Given the description of an element on the screen output the (x, y) to click on. 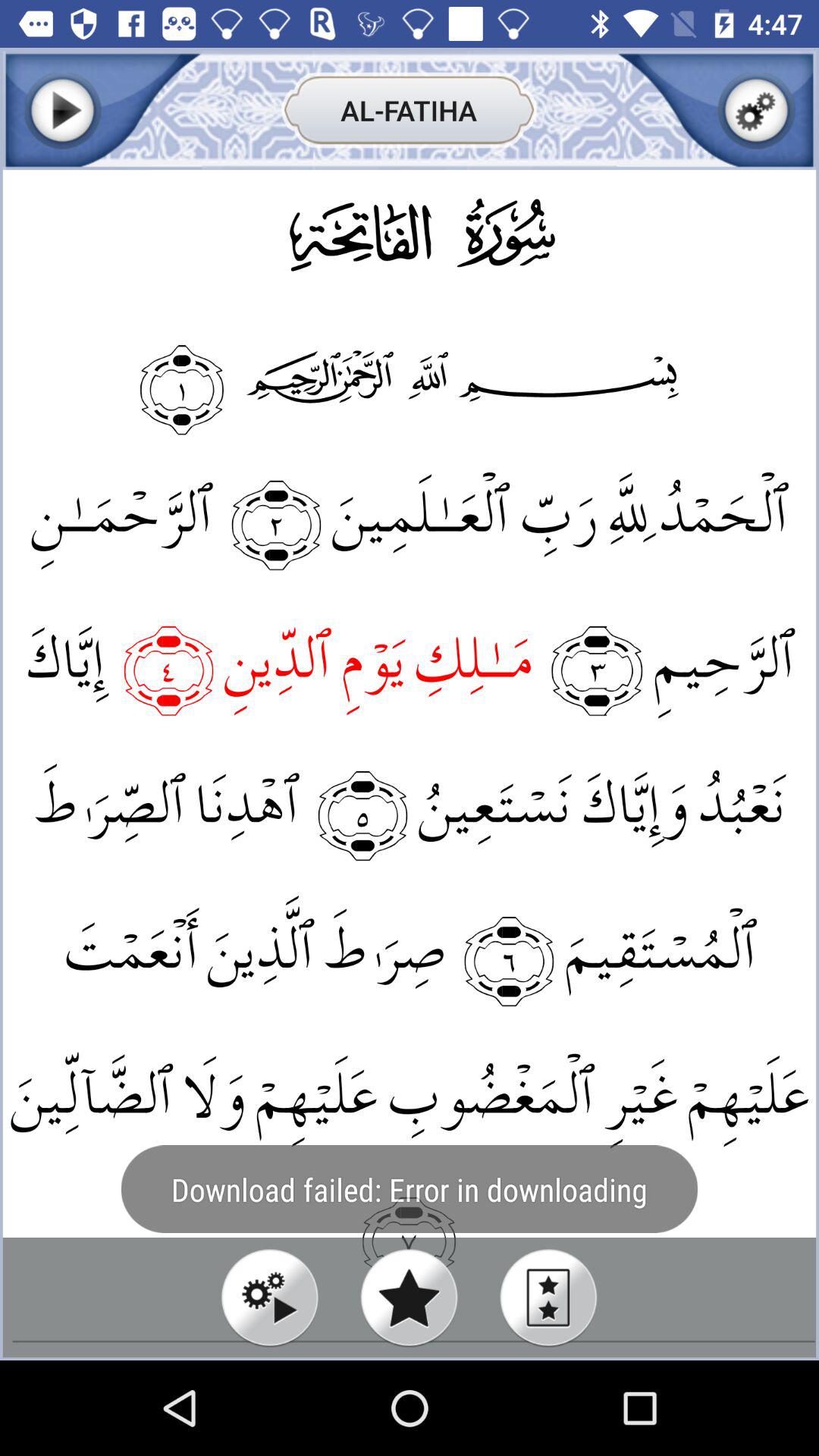
favorite item (408, 1297)
